Given the description of an element on the screen output the (x, y) to click on. 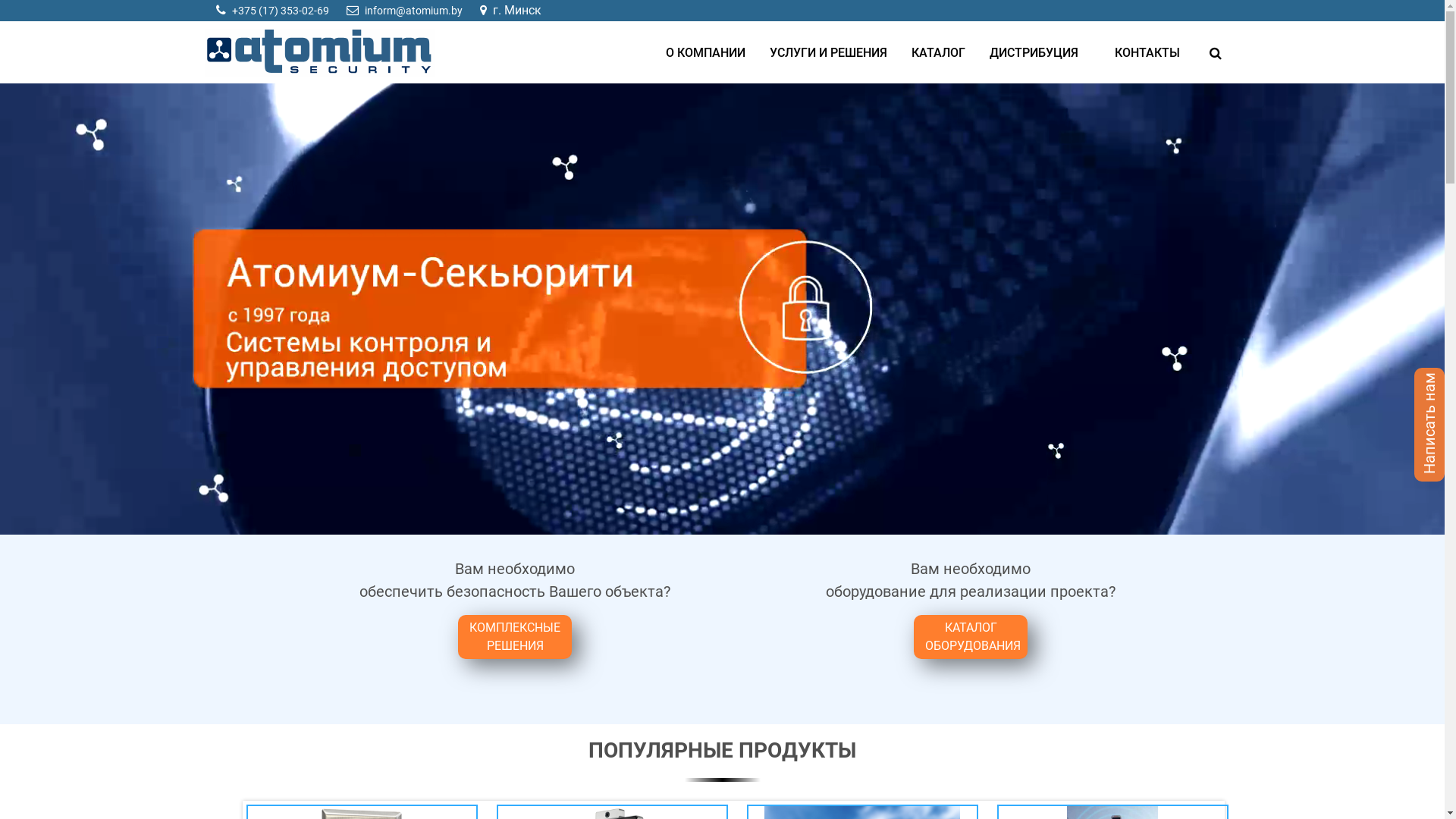
+375 (17) 353-02-69 Element type: text (280, 10)
inform@atomium.by Element type: text (412, 10)
